Given the description of an element on the screen output the (x, y) to click on. 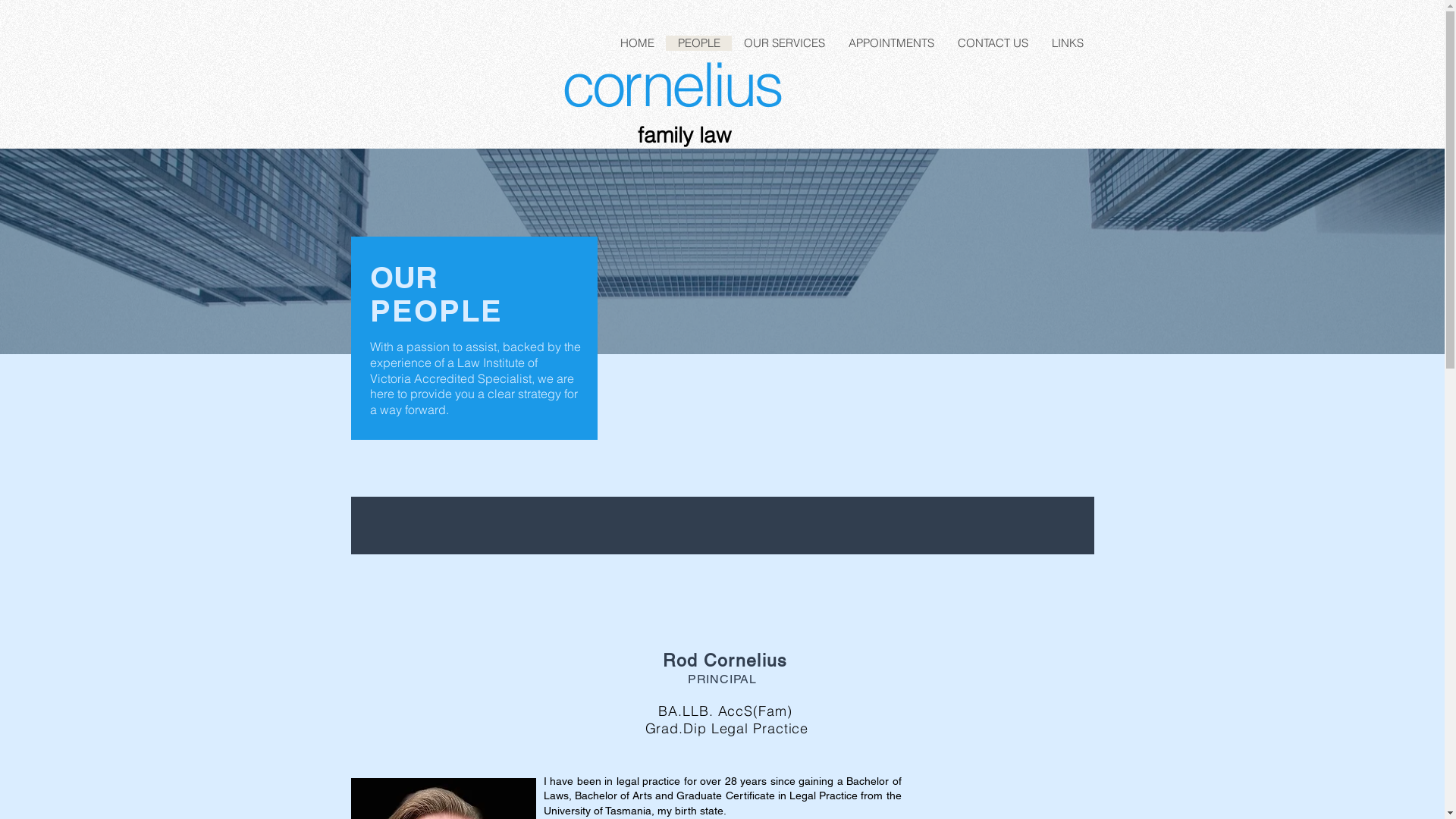
LINKS Element type: text (1066, 42)
family law Element type: text (683, 134)
HOME Element type: text (636, 42)
CONTACT US Element type: text (991, 42)
OUR SERVICES Element type: text (783, 42)
PEOPLE Element type: text (698, 42)
APPOINTMENTS Element type: text (889, 42)
cornelius Element type: text (670, 84)
